Given the description of an element on the screen output the (x, y) to click on. 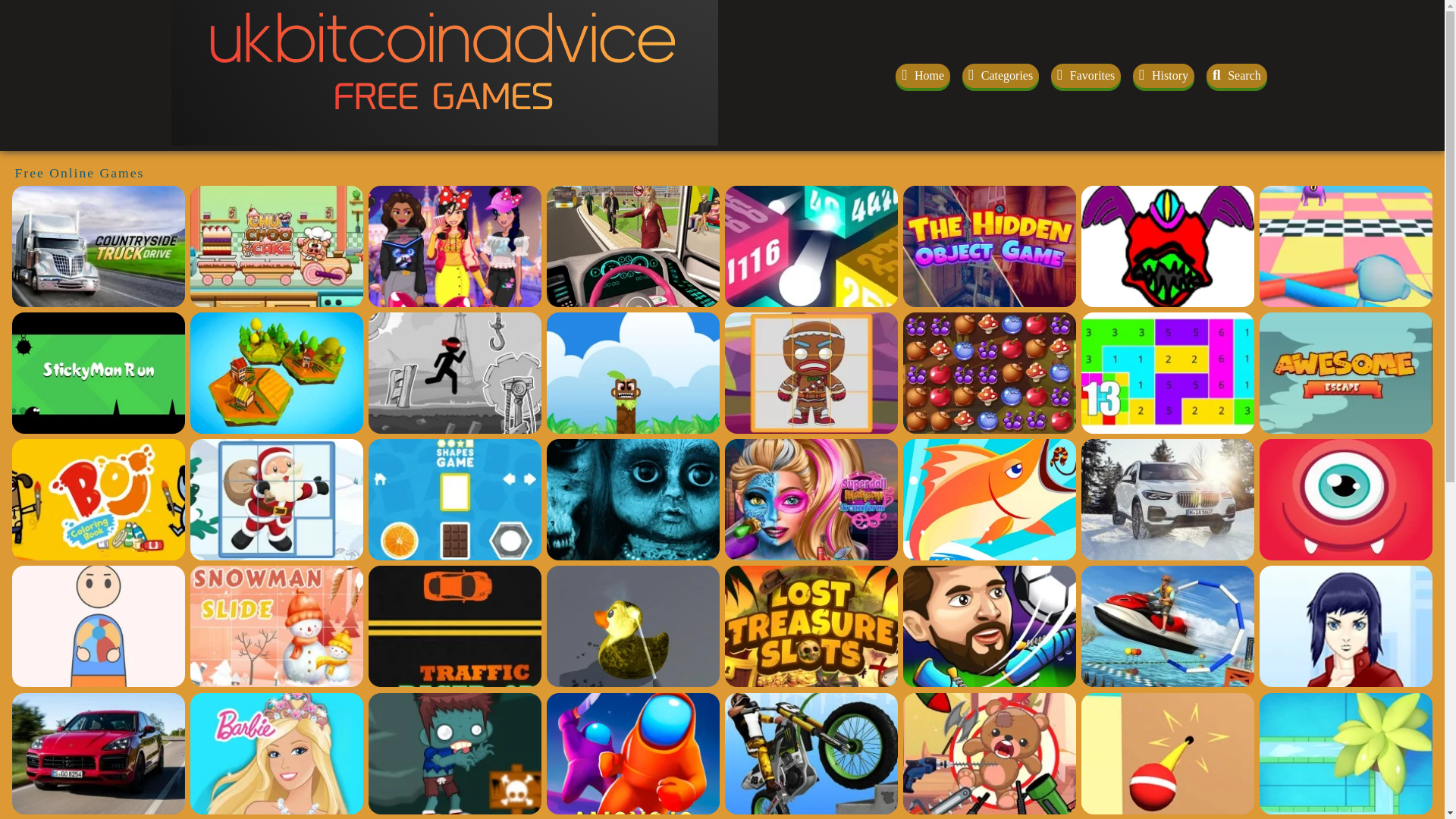
Home (922, 74)
Categories (1000, 74)
Favorites (1086, 74)
History (1162, 74)
Search (1236, 74)
